Given the description of an element on the screen output the (x, y) to click on. 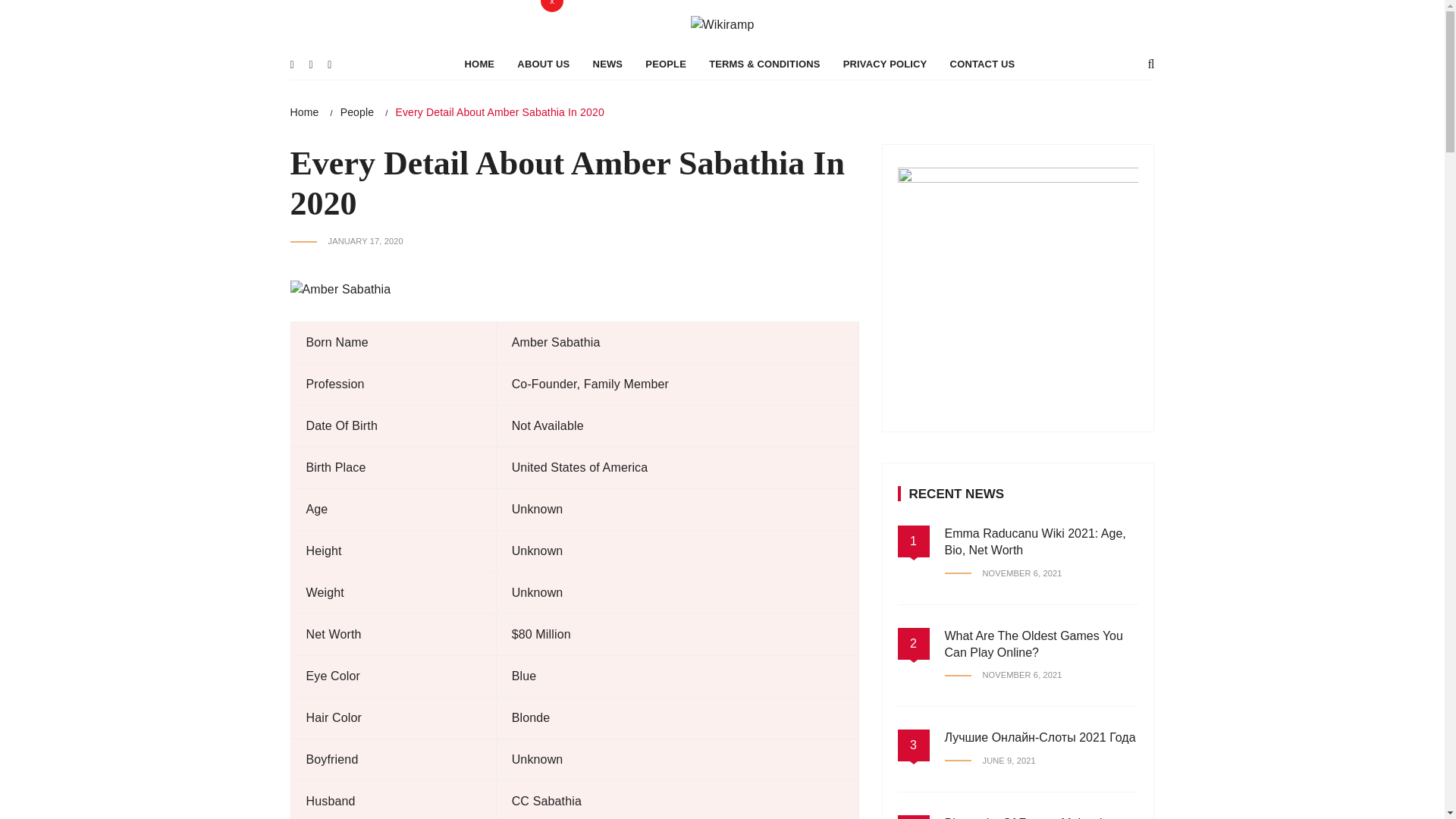
NOVEMBER 6, 2021 (1003, 675)
NEWS (607, 64)
CONTACT US (982, 64)
Search (420, 15)
Home (303, 111)
People (357, 111)
JANUARY 17, 2020 (346, 241)
NOVEMBER 6, 2021 (1003, 573)
ABOUT US (542, 64)
HOME (479, 64)
